Given the description of an element on the screen output the (x, y) to click on. 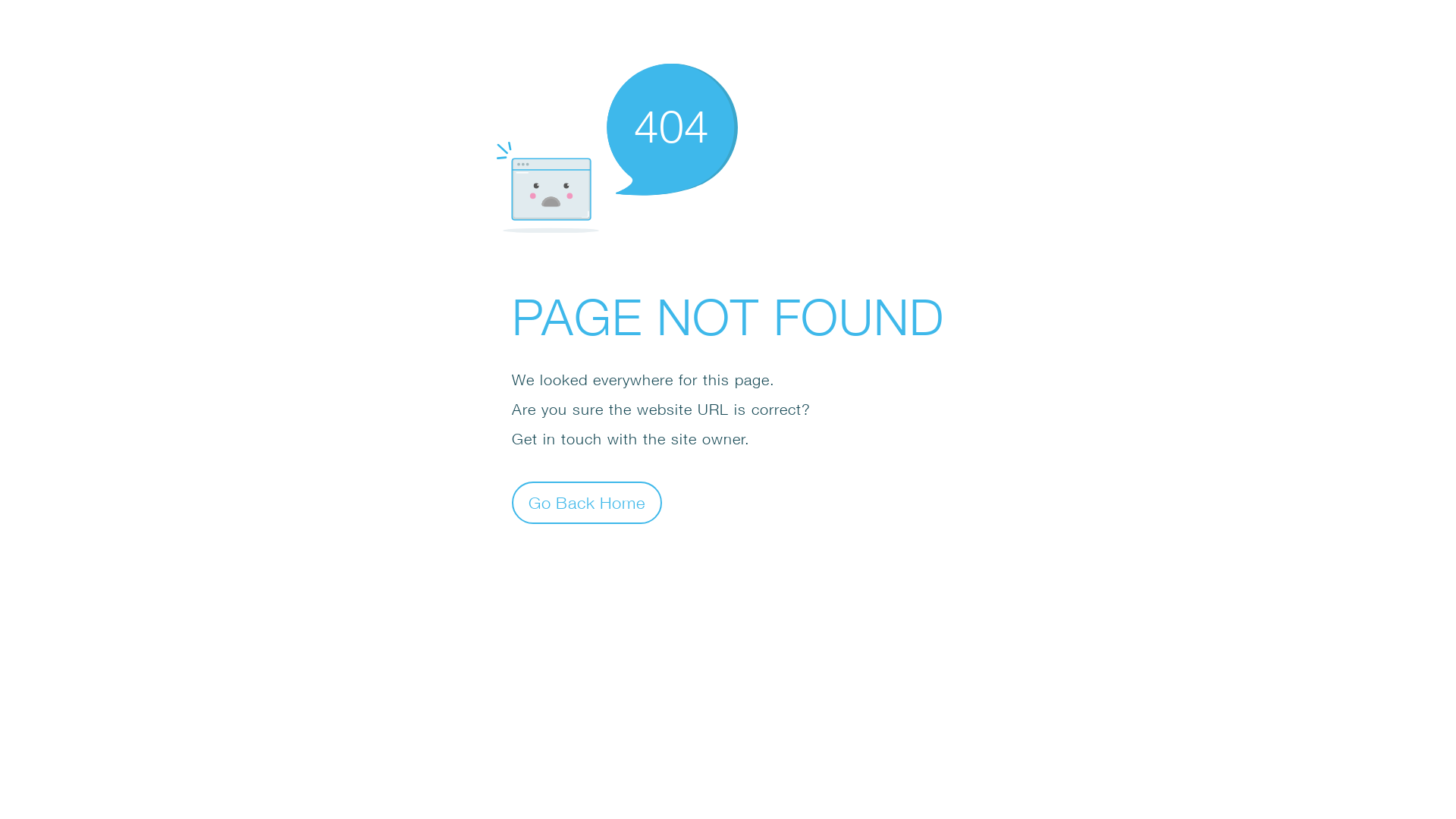
Go Back Home Element type: text (586, 502)
